Given the description of an element on the screen output the (x, y) to click on. 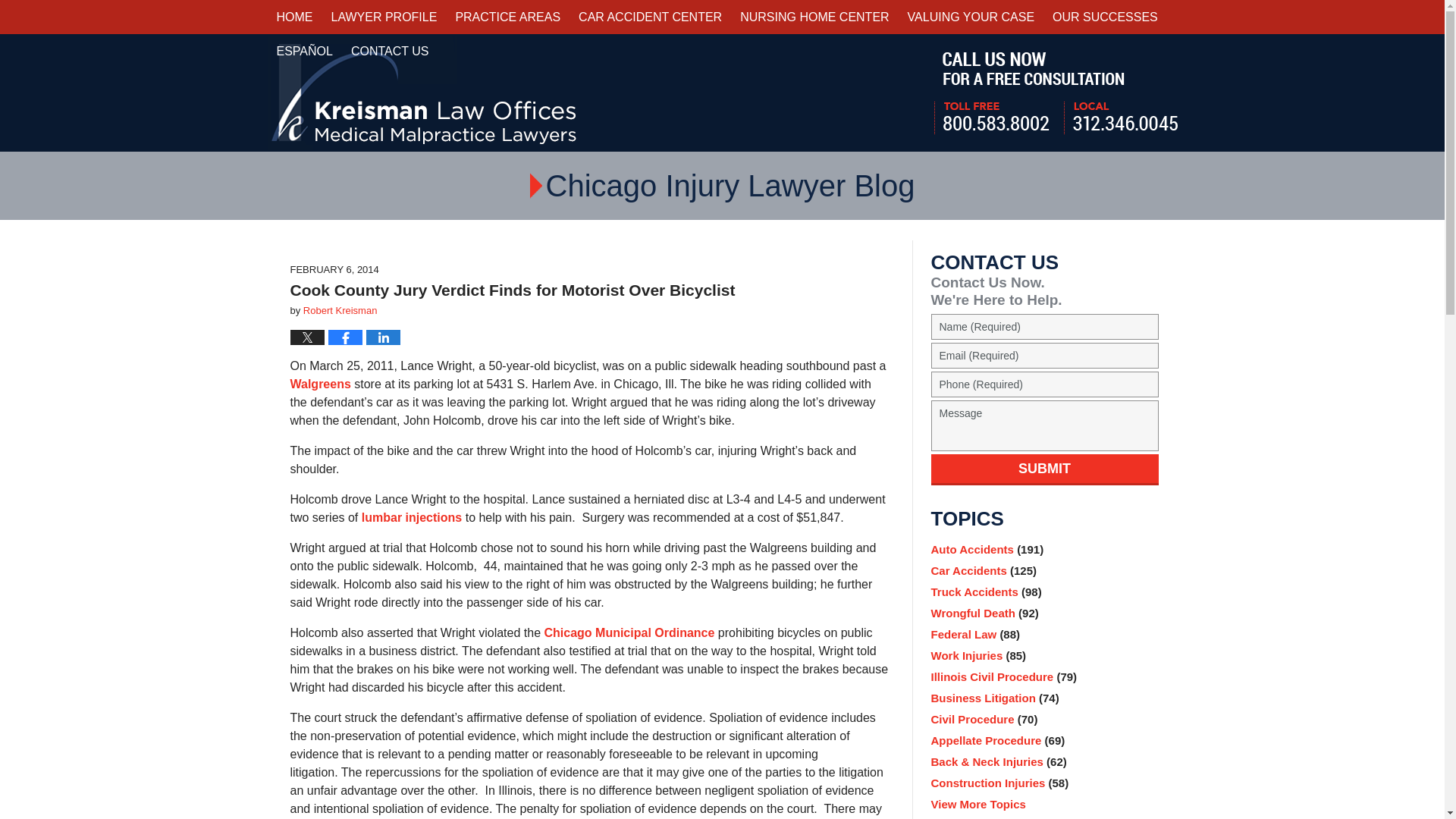
VALUING YOUR CASE (970, 17)
Walgreens (321, 383)
LAWYER PROFILE (383, 17)
OUR SUCCESSES (1105, 17)
PRACTICE AREAS (507, 17)
Kreisman Law Offices Professional Corporation (423, 92)
HOME (293, 17)
CONTACT US (390, 50)
Please enter a valid phone number. (1044, 384)
Robert Kreisman (339, 310)
